Given the description of an element on the screen output the (x, y) to click on. 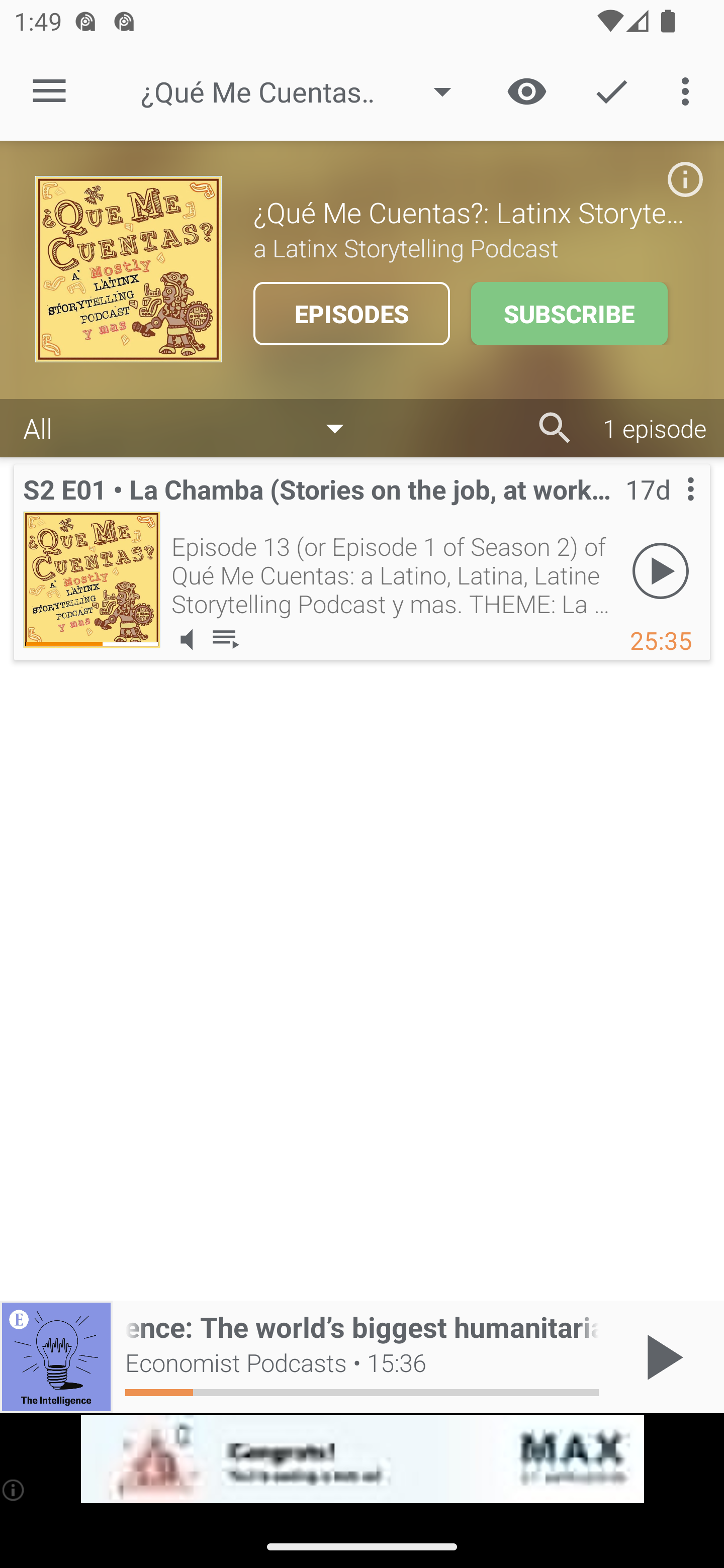
Open navigation sidebar (49, 91)
Show / Hide played content (526, 90)
Action Mode (611, 90)
More options (688, 90)
¿Qué Me Cuentas?: Latinx Storytelling (305, 91)
Podcast description (685, 179)
a Latinx Storytelling Podcast (470, 247)
EPISODES (351, 313)
SUBSCRIBE (569, 313)
Search (555, 428)
All (192, 428)
Contextual menu (668, 508)
La Chamba (Stories on the job, at work) (91, 579)
Play (660, 571)
Play / Pause (660, 1356)
app-monetization (362, 1459)
(i) (14, 1489)
